Given the description of an element on the screen output the (x, y) to click on. 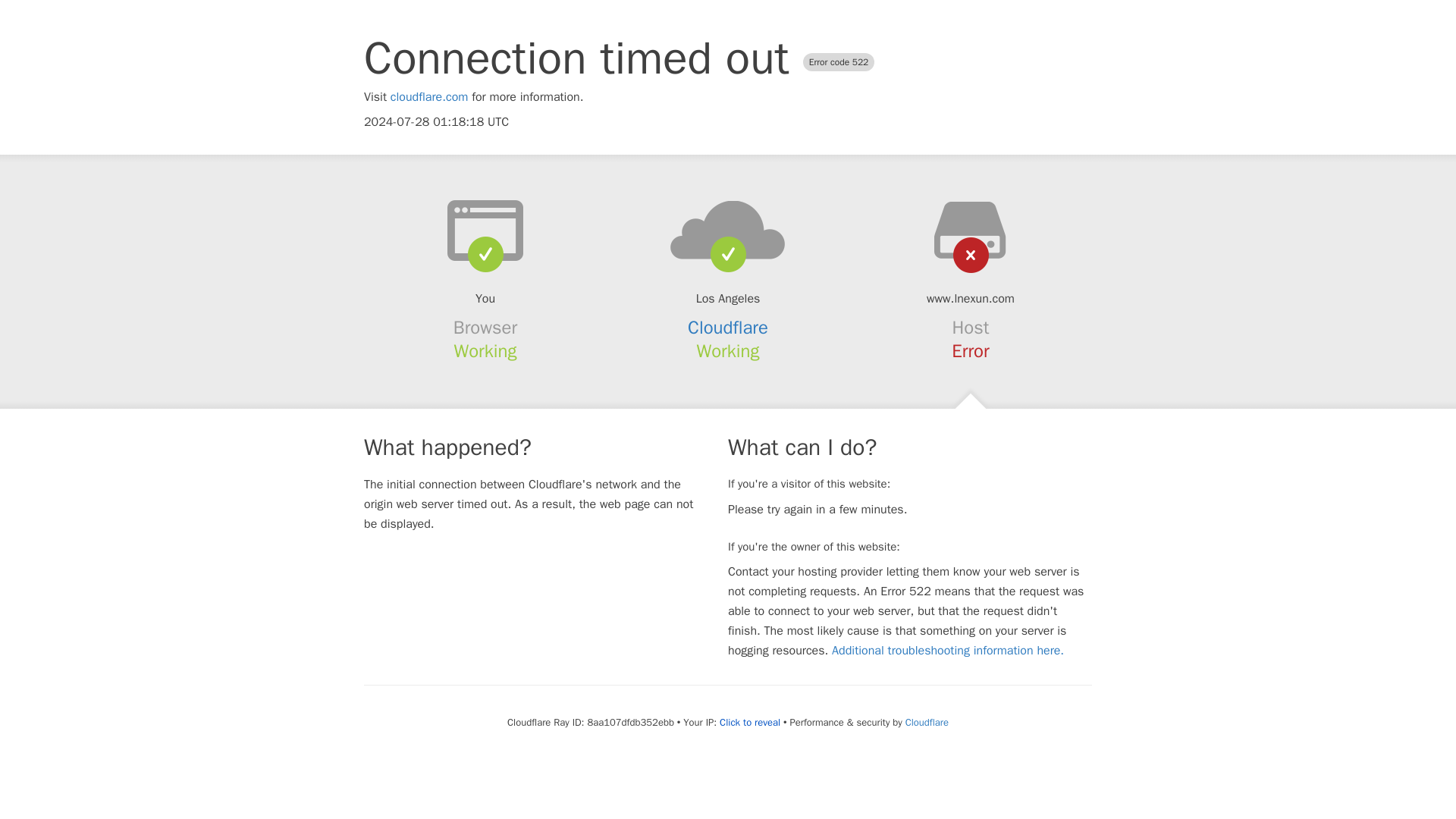
Cloudflare (727, 327)
Cloudflare (927, 721)
Click to reveal (749, 722)
Additional troubleshooting information here. (947, 650)
cloudflare.com (429, 96)
